Given the description of an element on the screen output the (x, y) to click on. 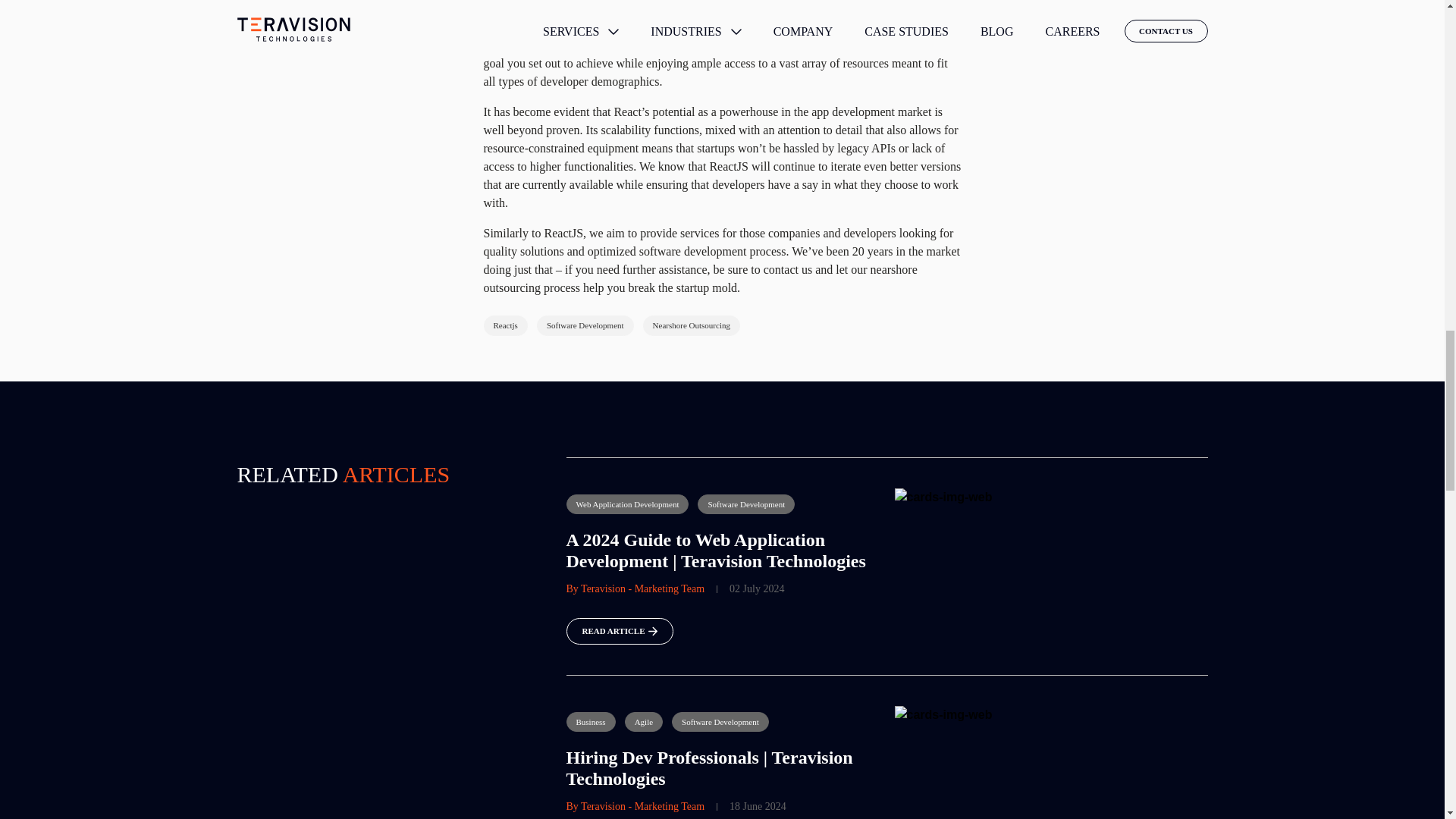
READ ARTICLE (722, 631)
READ ARTICLE (619, 631)
